Given the description of an element on the screen output the (x, y) to click on. 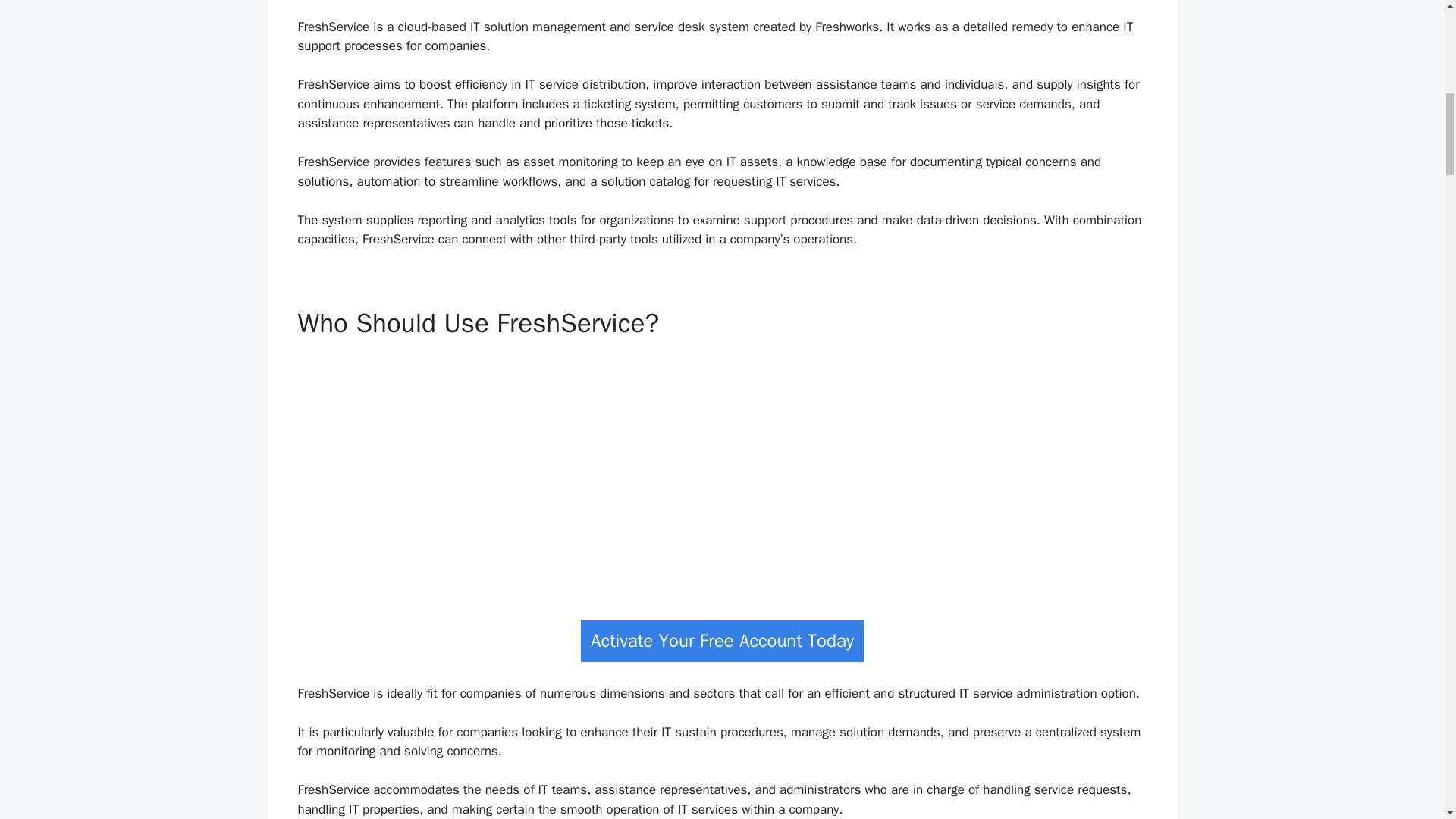
Activate Your Free Account Today (721, 640)
YouTube video player (717, 472)
